Given the description of an element on the screen output the (x, y) to click on. 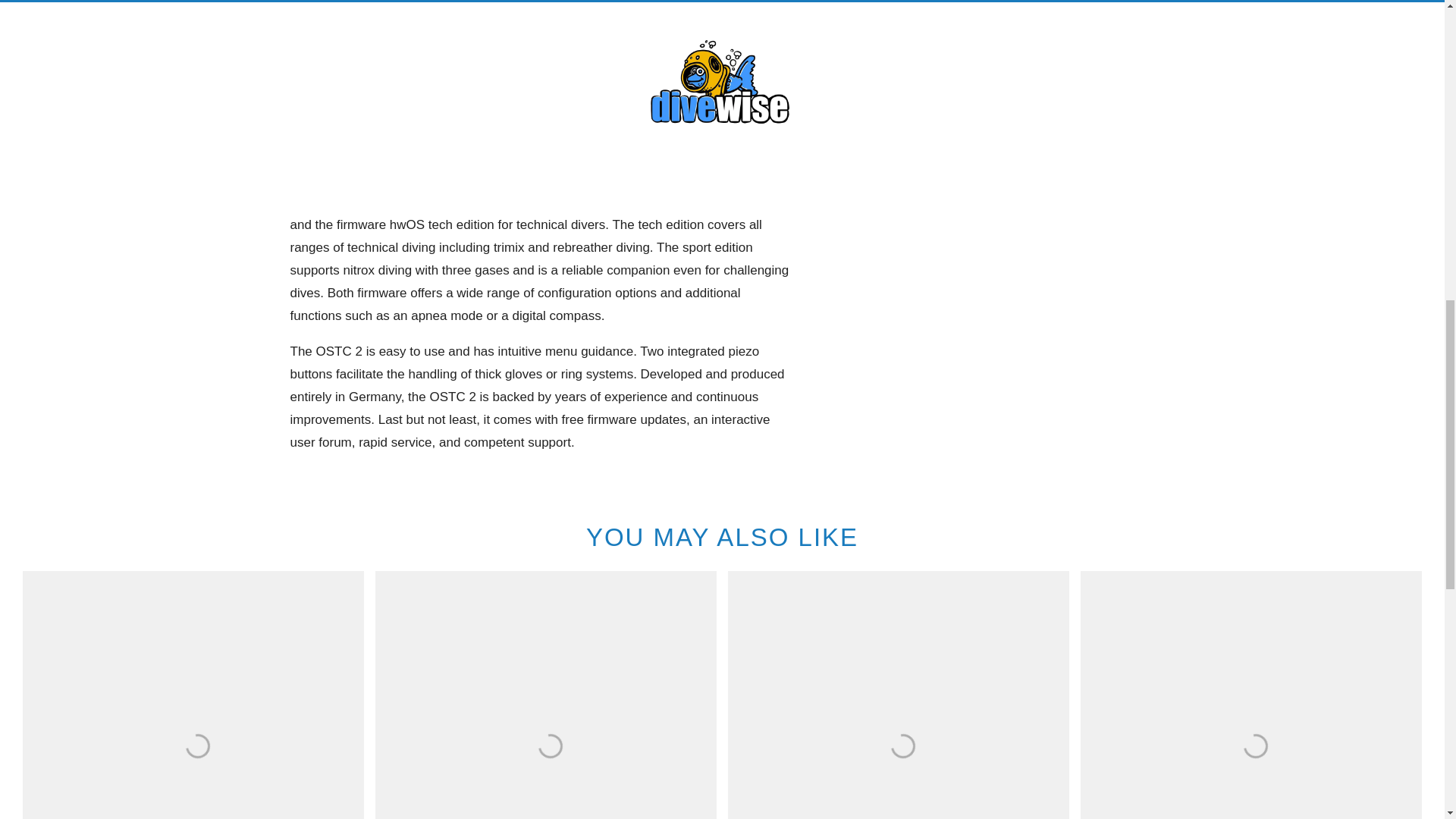
Shearwater Perdix-2 Computer (1251, 694)
Suunto D4i Novo Dive Computer (545, 694)
Suunto D5 Dive Computer (898, 694)
Suunto D6i Novo Dive Computer (193, 694)
